Given the description of an element on the screen output the (x, y) to click on. 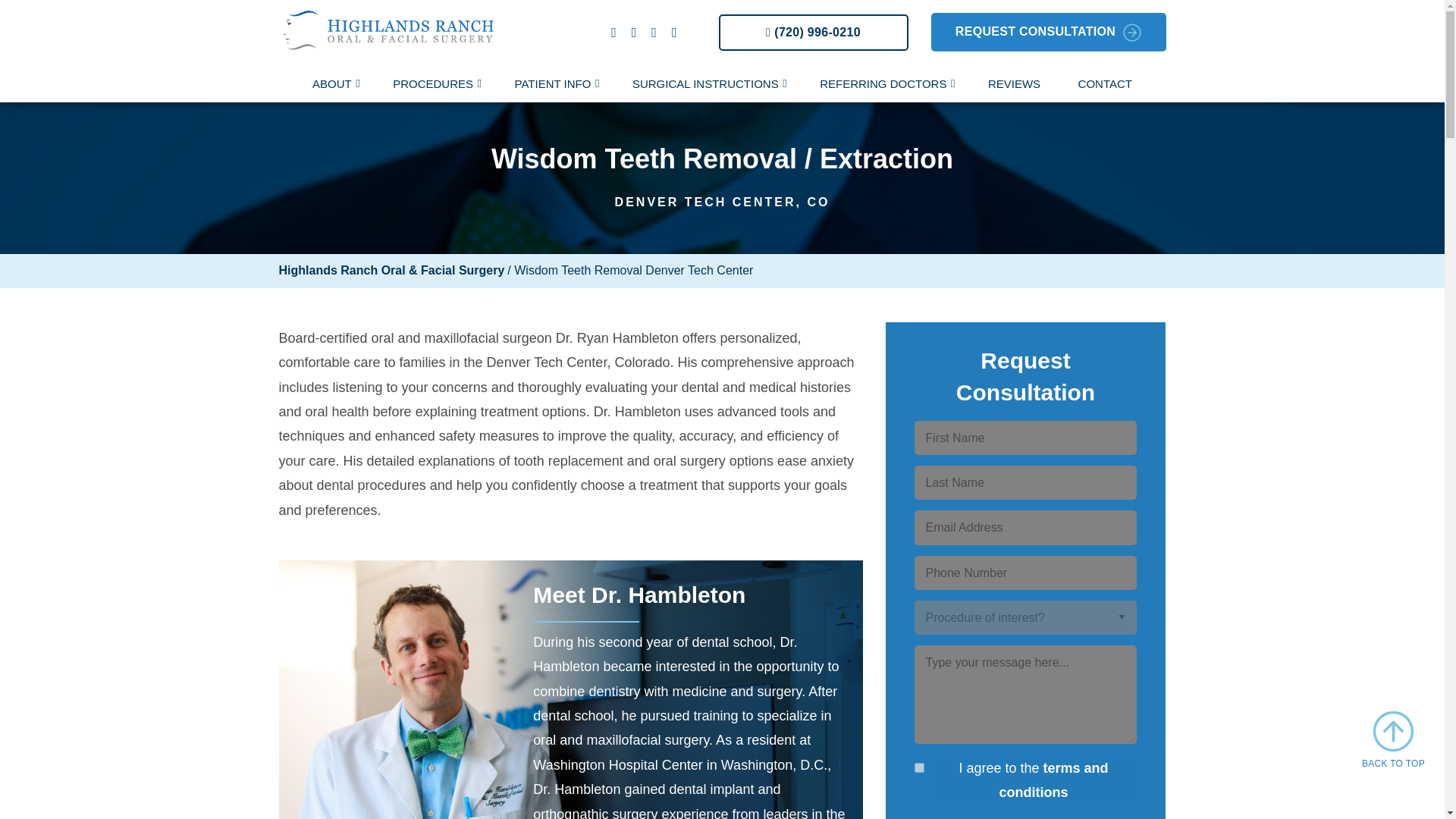
REFERRING DOCTORS (884, 84)
CONTACT (1105, 84)
PROCEDURES (435, 84)
REVIEWS (1014, 84)
PATIENT INFO (555, 84)
ABOUT (334, 84)
SURGICAL INSTRUCTIONS (707, 84)
I agree to the terms and conditions (919, 767)
REQUEST CONSULTATION (1048, 32)
